Given the description of an element on the screen output the (x, y) to click on. 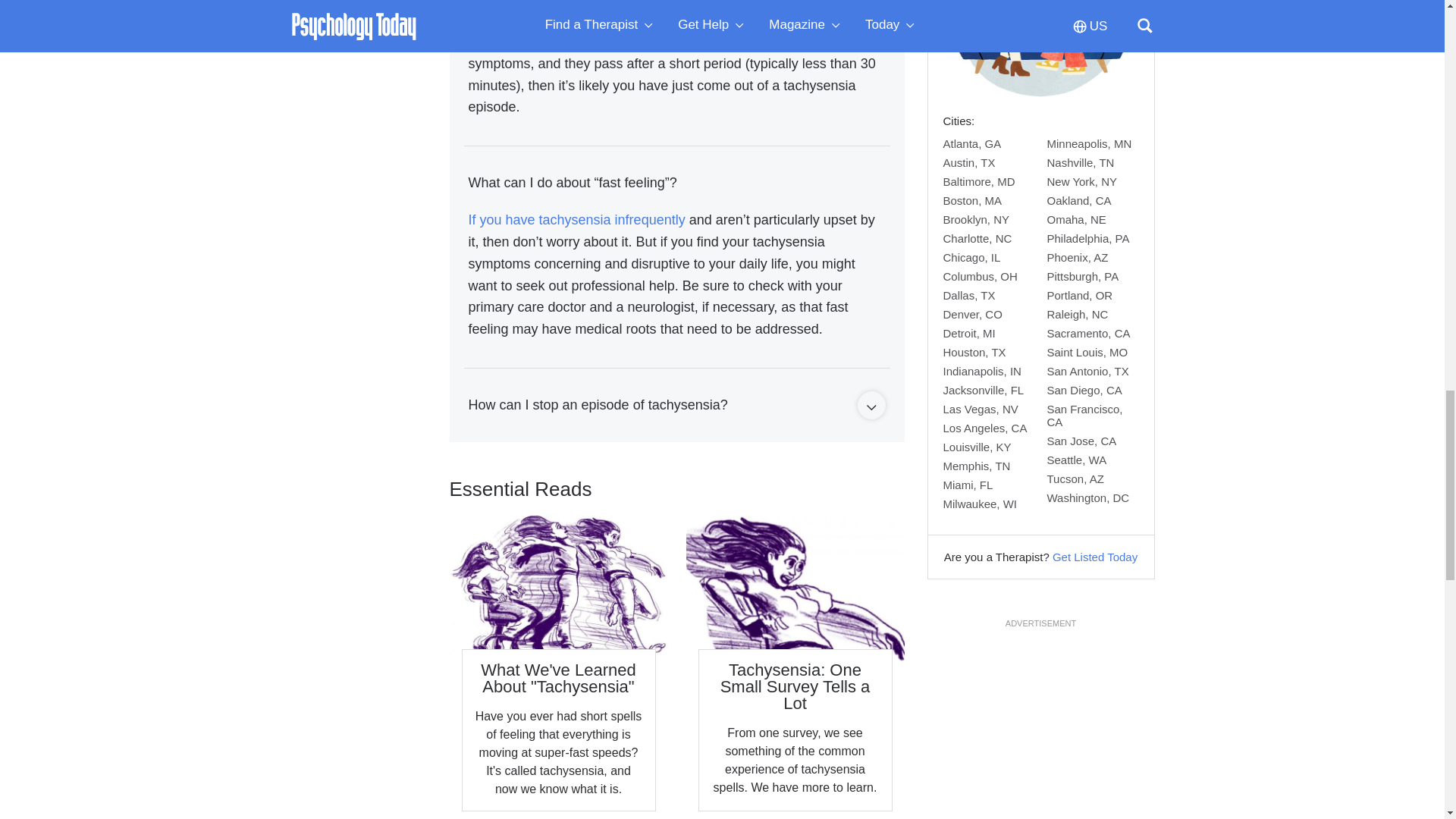
Created with Sketch. (871, 407)
